Given the description of an element on the screen output the (x, y) to click on. 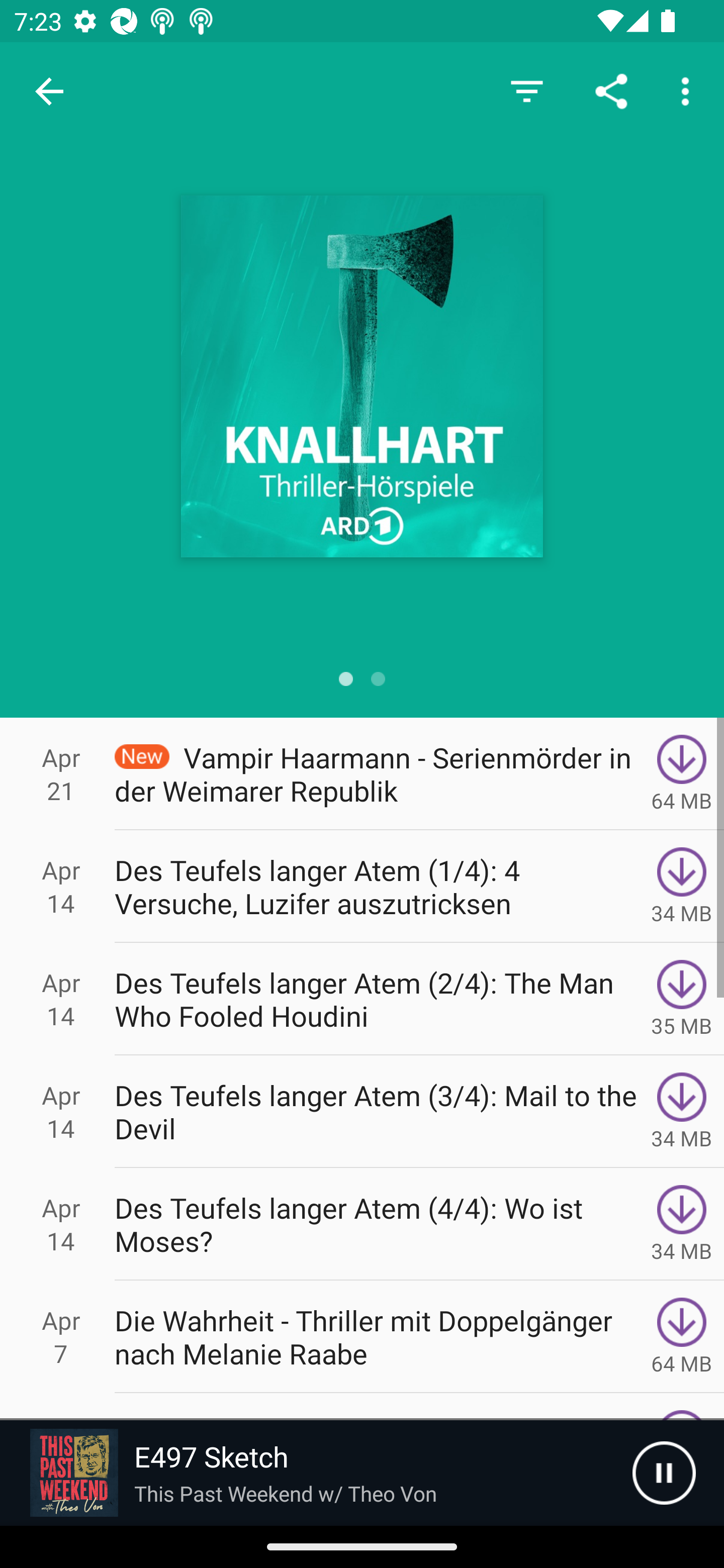
Navigate up (49, 91)
Hide Episodes (526, 90)
Share Link (611, 90)
More options (688, 90)
Download 64 MB (681, 773)
Download 34 MB (681, 885)
Download 35 MB (681, 998)
Download 34 MB (681, 1111)
Download 34 MB (681, 1224)
Download 64 MB (681, 1336)
Picture E497 Sketch This Past Weekend w/ Theo Von (316, 1472)
Pause (663, 1472)
